Given the description of an element on the screen output the (x, y) to click on. 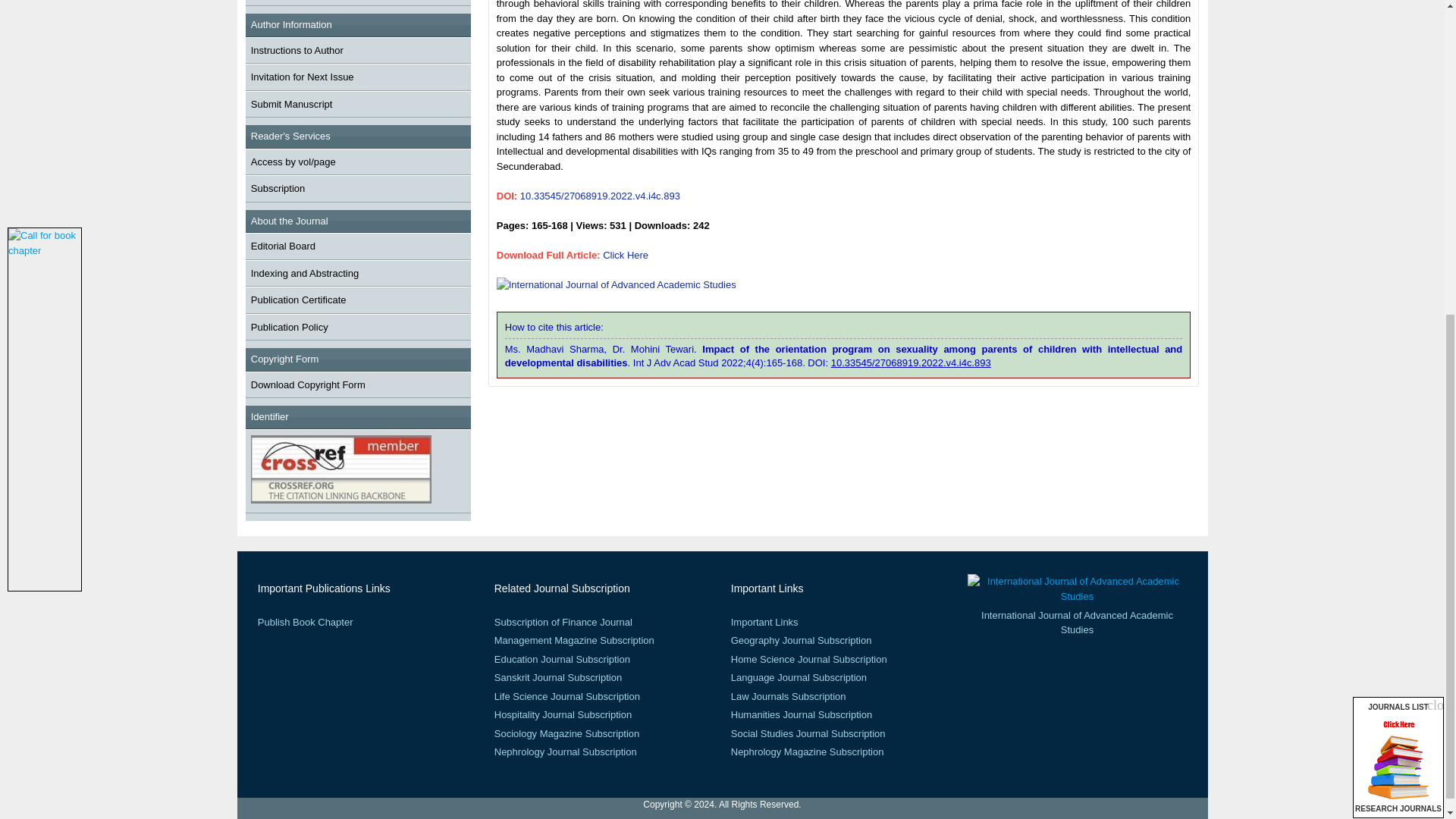
Click Here (624, 255)
Submit Manuscript (291, 103)
Indexing and Abstracting (304, 272)
Instructions to Author (296, 49)
Publication Policy (289, 326)
Publication Certificate (298, 299)
Subscription (277, 188)
Invitation for Next Issue (301, 76)
Peer reviewed journal with DOI indexing (340, 468)
Editorial Board (282, 245)
